Given the description of an element on the screen output the (x, y) to click on. 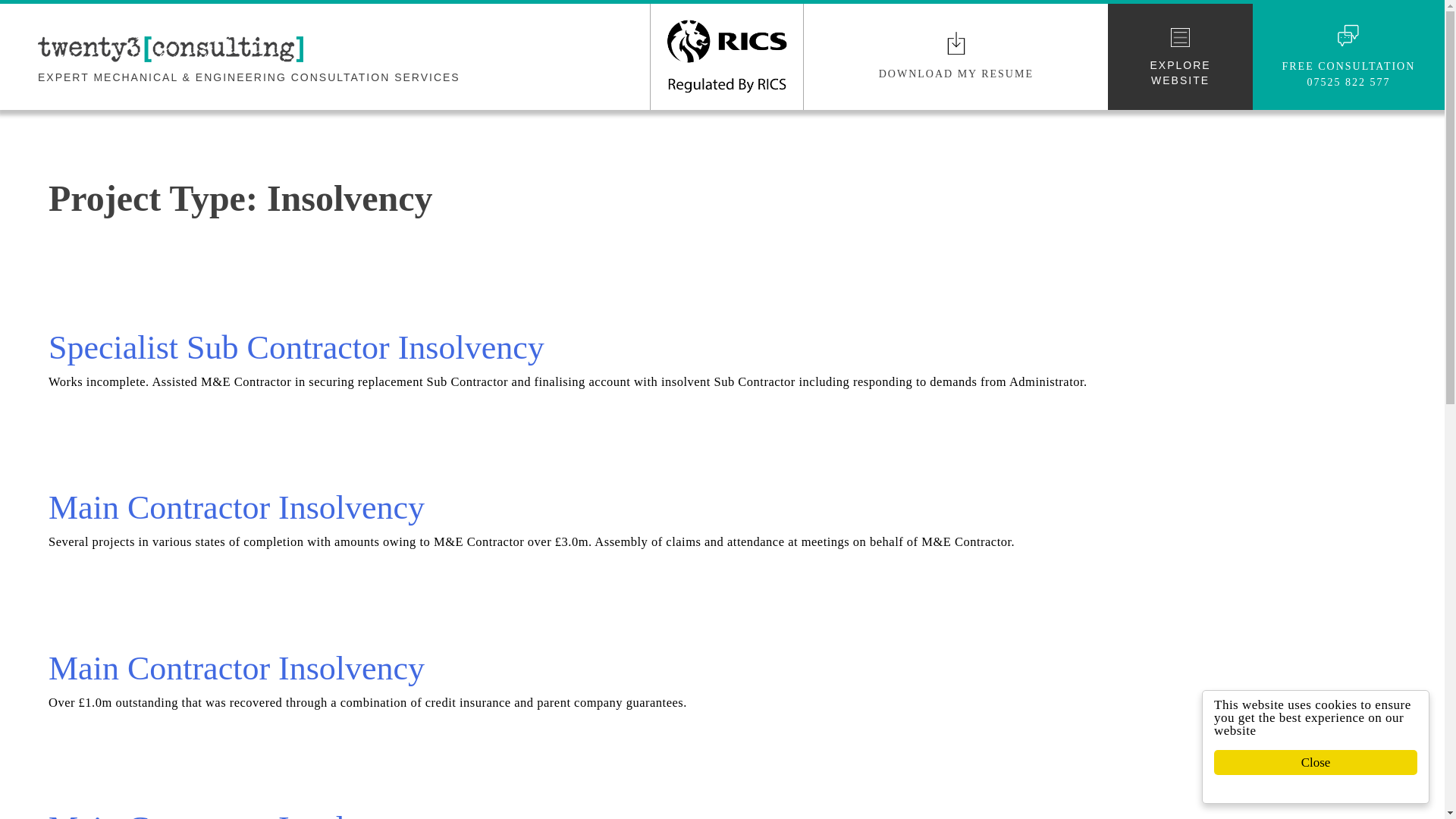
twenty3consulting Contact Icon (1347, 35)
twenty3consulting RICS Logo (726, 56)
Download my Resume (956, 73)
twenty3consulting Download Icon (956, 42)
Close (1329, 762)
FREE CONSULTATION 07525 822 577 (1348, 73)
DOWNLOAD MY RESUME (956, 73)
Cookie Consent plugin for the EU cookie law (1330, 788)
EXPLORE WEBSITE (1180, 56)
